Given the description of an element on the screen output the (x, y) to click on. 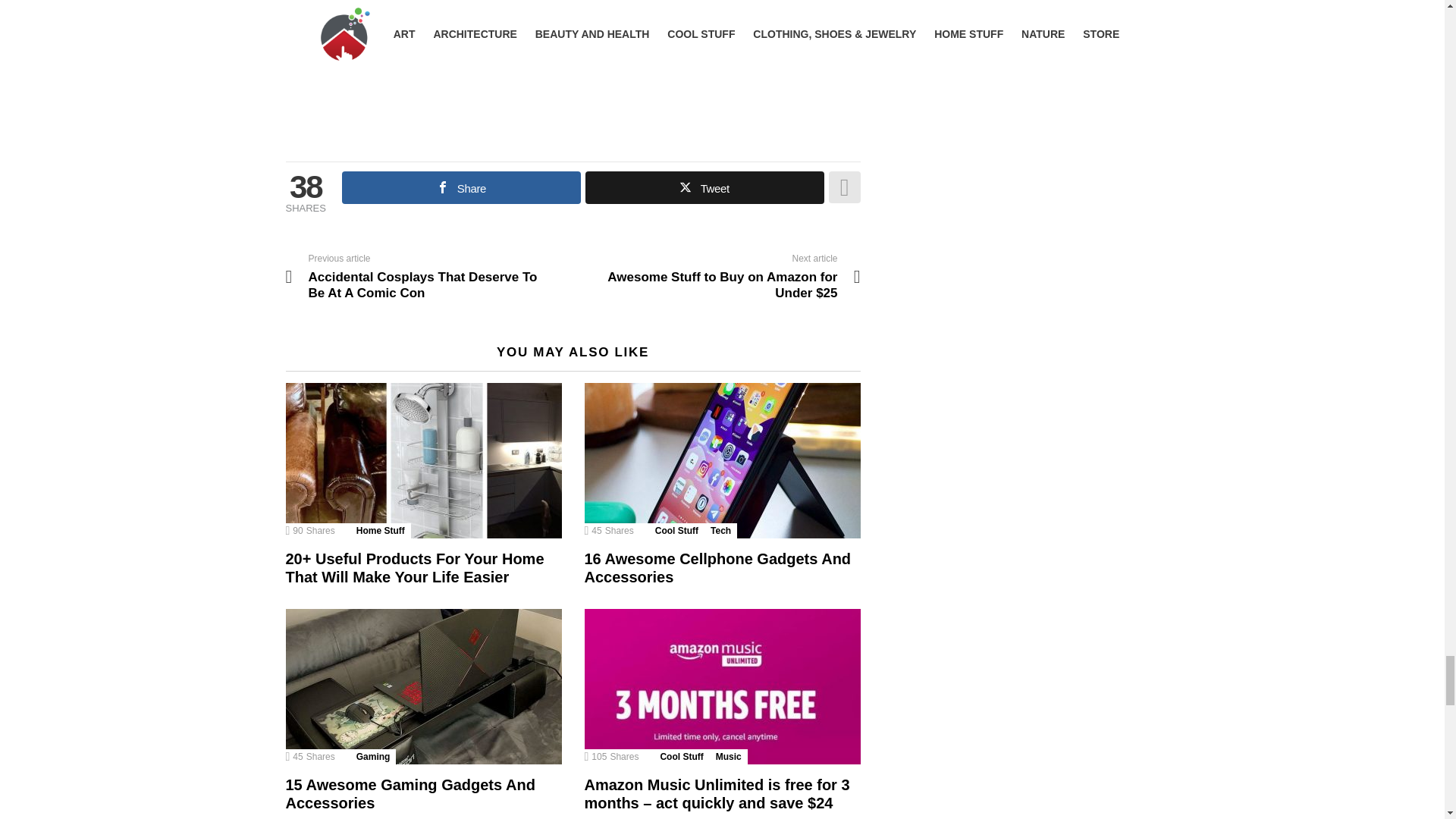
Cool Stuff (676, 530)
Gaming (373, 756)
Share (461, 187)
Tech (720, 530)
16 Awesome Cellphone Gadgets And Accessories (721, 460)
Music (729, 756)
Cool Stuff (681, 756)
Tweet (704, 187)
16 Awesome Cellphone Gadgets And Accessories (716, 567)
Home Stuff (380, 530)
15 Awesome Gaming Gadgets And Accessories (422, 686)
15 Awesome Gaming Gadgets And Accessories (409, 793)
